Given the description of an element on the screen output the (x, y) to click on. 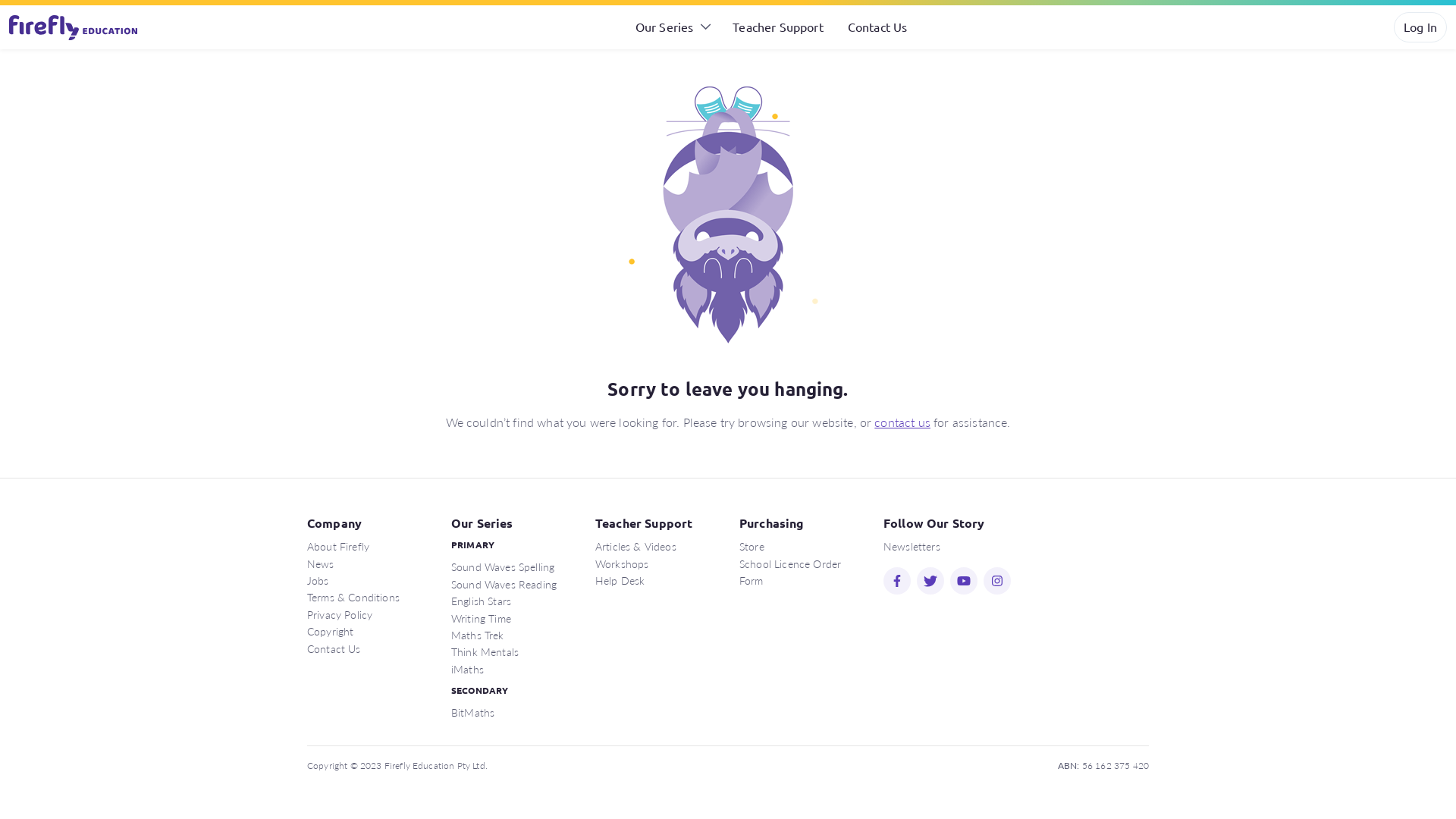
Jobs Element type: text (318, 579)
School Licence Order Form Element type: text (789, 571)
Help Desk Element type: text (619, 579)
Contact Us Element type: text (877, 26)
Think Mentals Element type: text (484, 650)
BitMaths Element type: text (472, 711)
About Firefly Element type: text (338, 545)
News Element type: text (320, 563)
English Stars Element type: text (481, 600)
iMaths Element type: text (467, 668)
Copyright Element type: text (330, 630)
Writing Time Element type: text (481, 617)
Log In Element type: text (1419, 27)
Articles & Videos Element type: text (635, 545)
Newsletters Element type: text (911, 545)
Contact Us Element type: text (333, 647)
Terms & Conditions Element type: text (353, 596)
Teacher Support Element type: text (777, 26)
Sound Waves Spelling Element type: text (502, 566)
Privacy Policy Element type: text (339, 613)
Firefly Education Element type: text (74, 27)
Sound Waves Reading Element type: text (503, 583)
contact us Element type: text (902, 421)
Maths Trek Element type: text (477, 634)
Our Series Element type: text (672, 26)
Store Element type: text (751, 545)
Workshops Element type: text (621, 563)
